Given the description of an element on the screen output the (x, y) to click on. 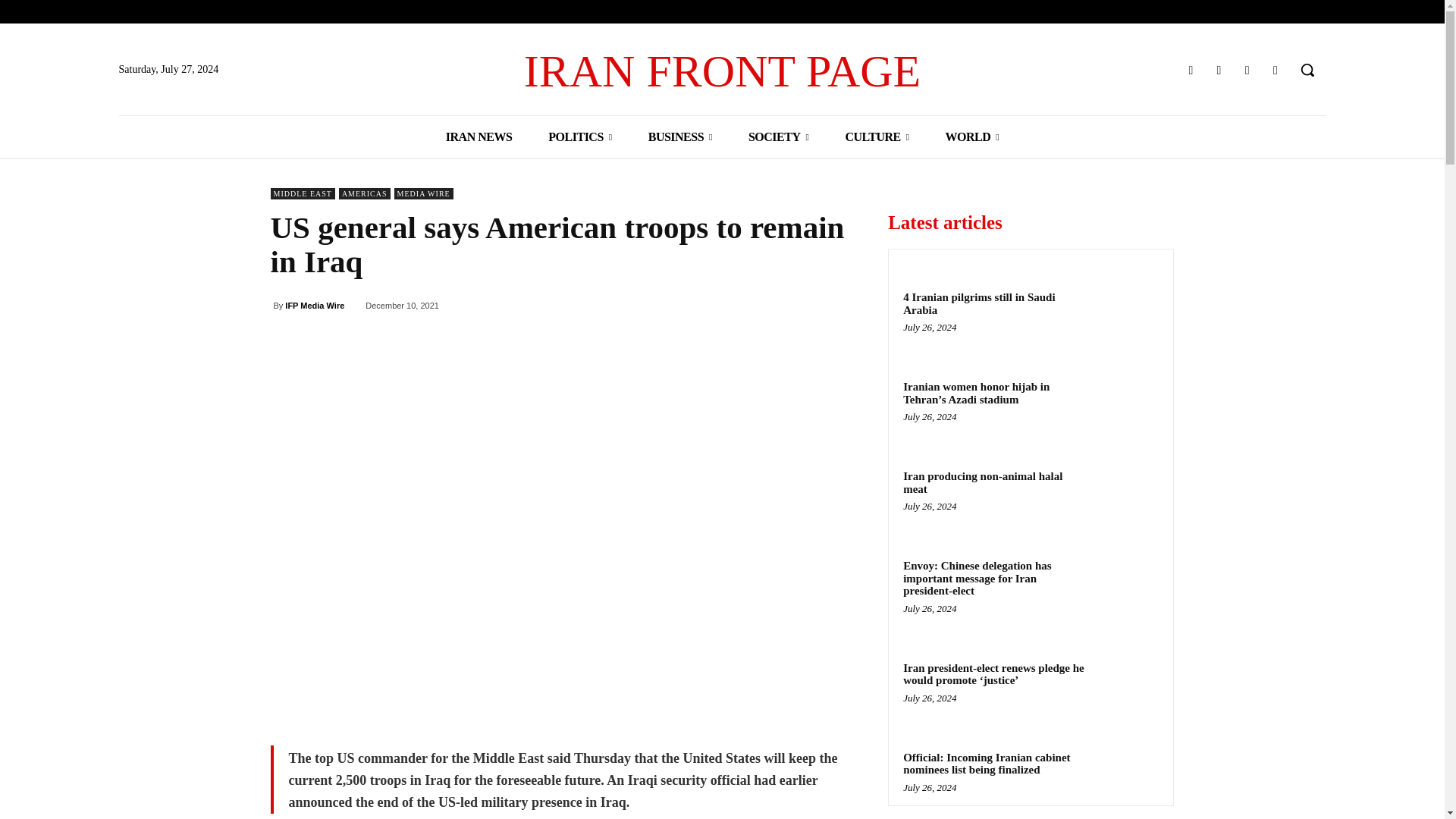
Iran Front Page Logo (721, 70)
Facebook (1190, 69)
